Given the description of an element on the screen output the (x, y) to click on. 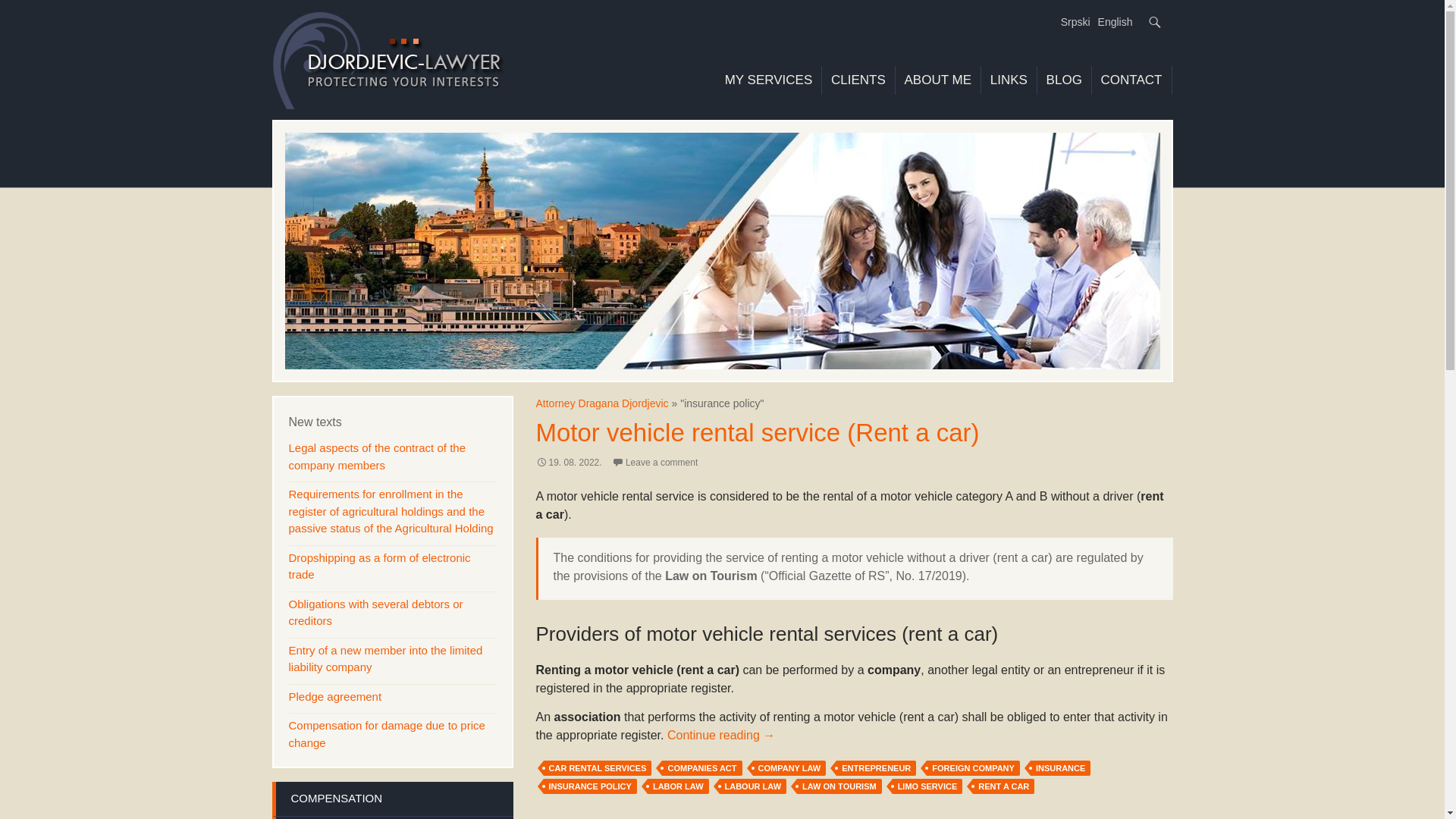
RENT A CAR (1002, 785)
LINKS (1008, 80)
CONTACT (1132, 80)
LIMO SERVICE (927, 785)
INSURANCE POLICY (589, 785)
ENTREPRENEUR (875, 767)
FOREIGN COMPANY (973, 767)
LABOUR LAW (753, 785)
Attorney Dragana Djordjevic (388, 59)
INSURANCE (1060, 767)
19. 08. 2022. (568, 462)
Srpski (1075, 21)
LABOR LAW (678, 785)
English (1114, 21)
